Given the description of an element on the screen output the (x, y) to click on. 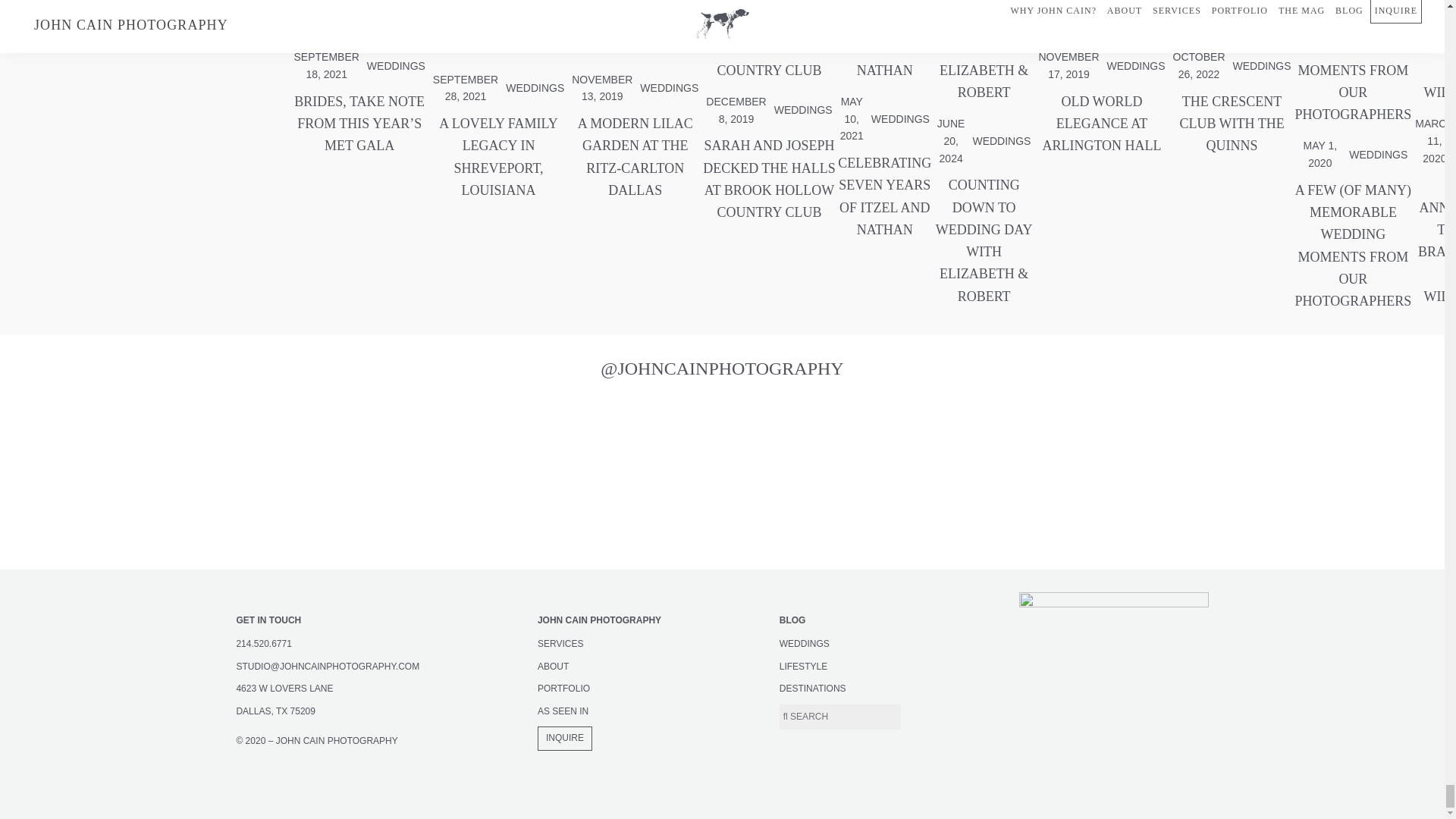
Old World Elegance at Arlington Hall (1101, 24)
Old World Elegance at Arlington Hall (1101, 124)
The Crescent Club with the Quinns (1232, 124)
Celebrating Seven Years of Itzel and Nathan (884, 46)
A Lovely Family Legacy in Shreveport, Louisiana (498, 35)
A Modern Lilac Garden at the Ritz-Carlton Dallas (634, 35)
The Crescent Club with the Quinns (1232, 24)
A Modern Lilac Garden at the Ritz-Carlton Dallas (634, 157)
Celebrating Seven Years of Itzel and Nathan (884, 196)
A Lovely Family Legacy in Shreveport, Louisiana (498, 157)
